Given the description of an element on the screen output the (x, y) to click on. 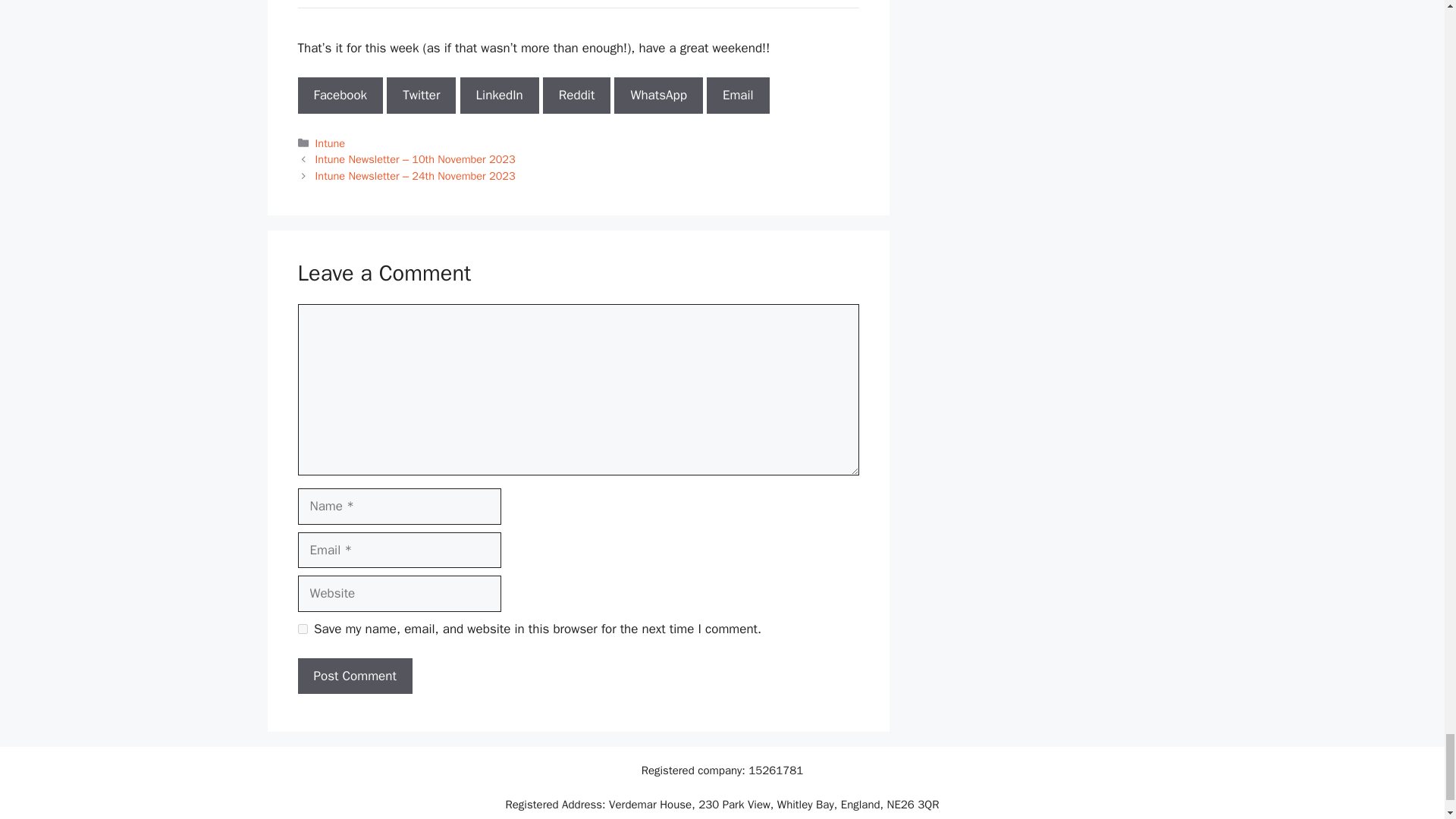
Post Comment (354, 676)
yes (302, 628)
